Given the description of an element on the screen output the (x, y) to click on. 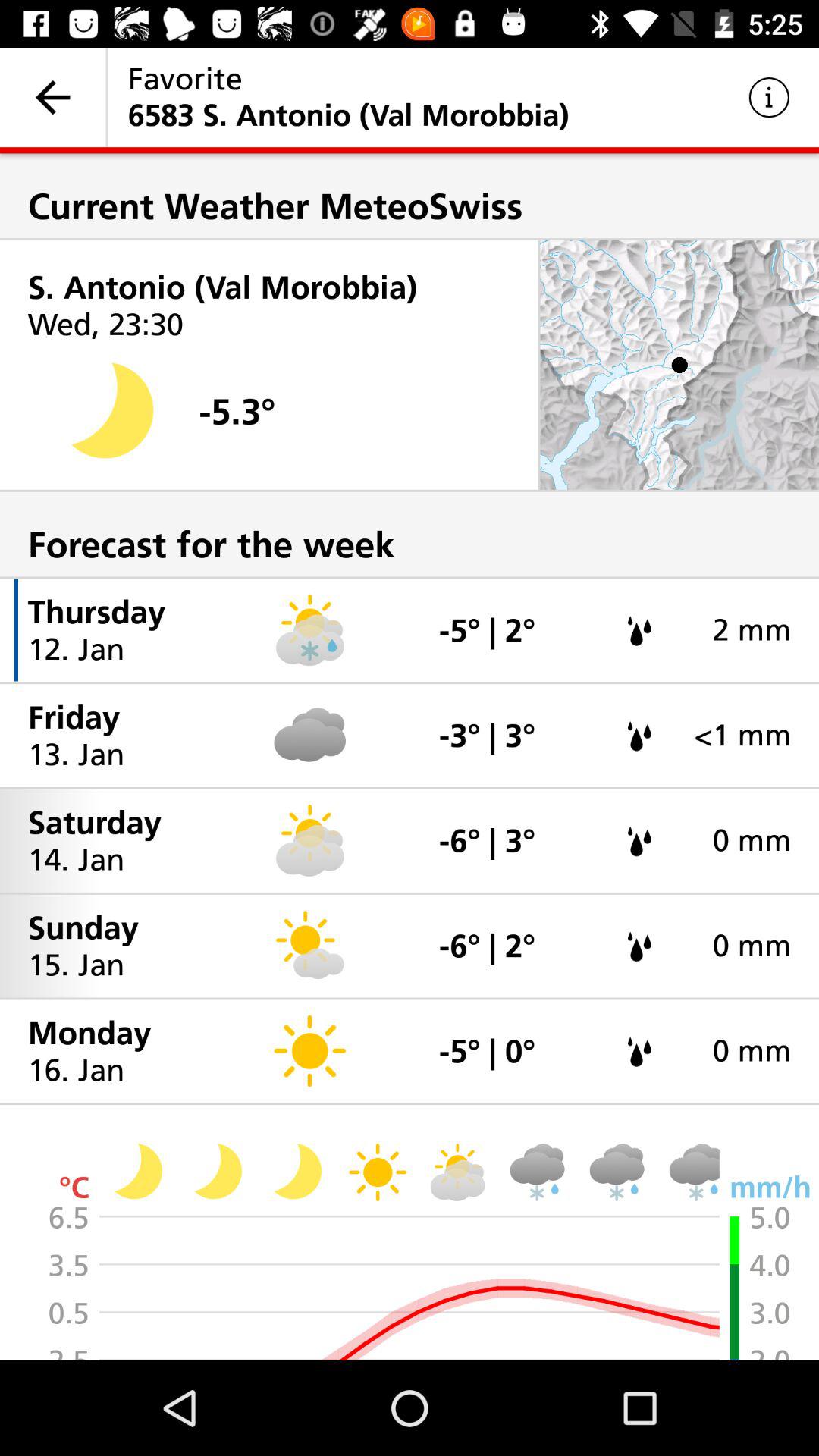
choose icon next to the favorite icon (52, 97)
